Given the description of an element on the screen output the (x, y) to click on. 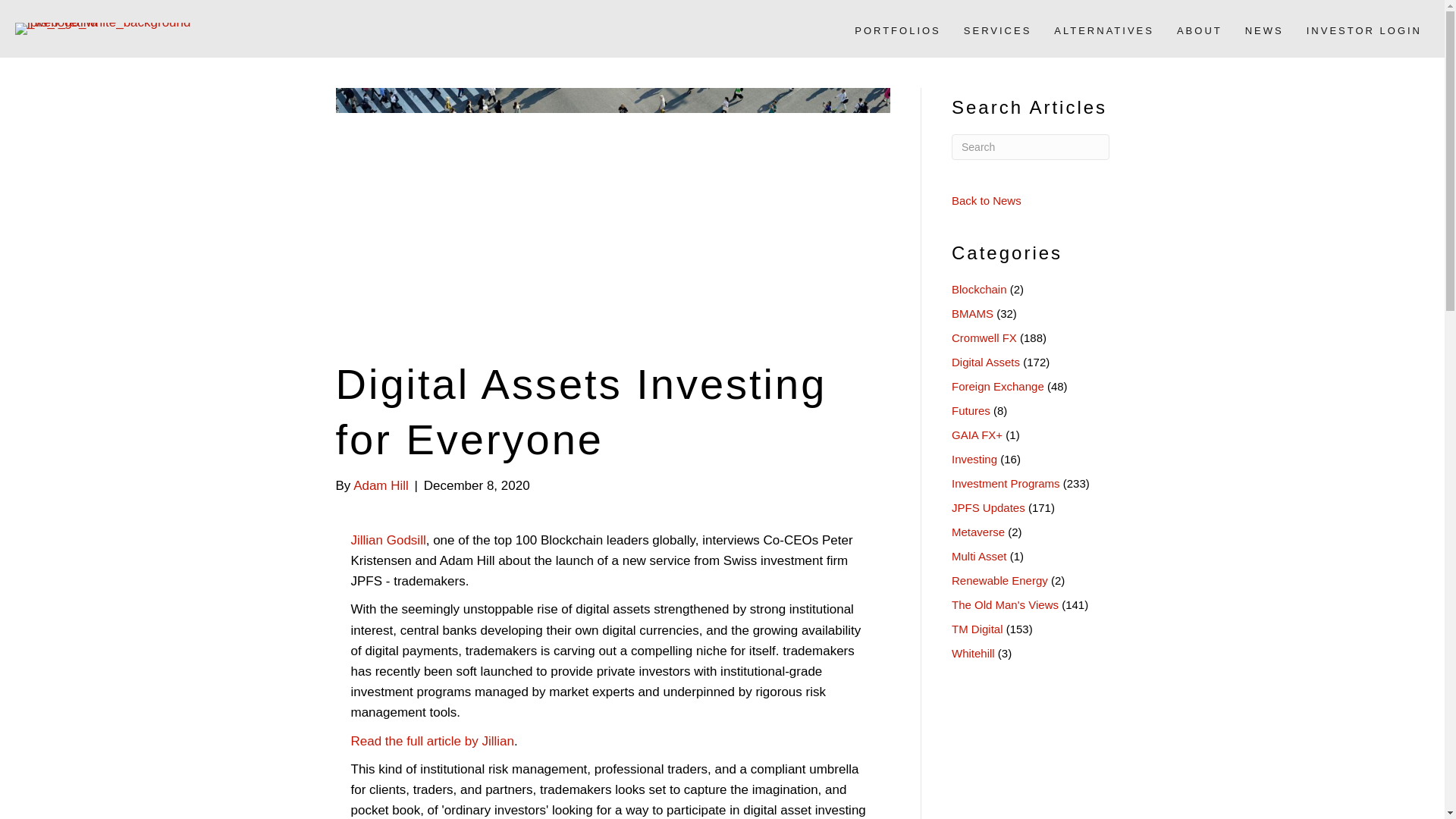
Renewable Energy (1000, 580)
Investment Programs (1005, 482)
ABOUT (1199, 30)
NEWS (1264, 30)
Blockchain (979, 288)
PORTFOLIOS (898, 30)
Type and press Enter to search. (1030, 146)
Metaverse (978, 531)
Back to News (987, 200)
JPFS Updates (988, 507)
Investing (974, 459)
Read the full article by Jillian (431, 740)
Adam Hill (381, 485)
Whitehill (973, 653)
Futures (971, 410)
